Given the description of an element on the screen output the (x, y) to click on. 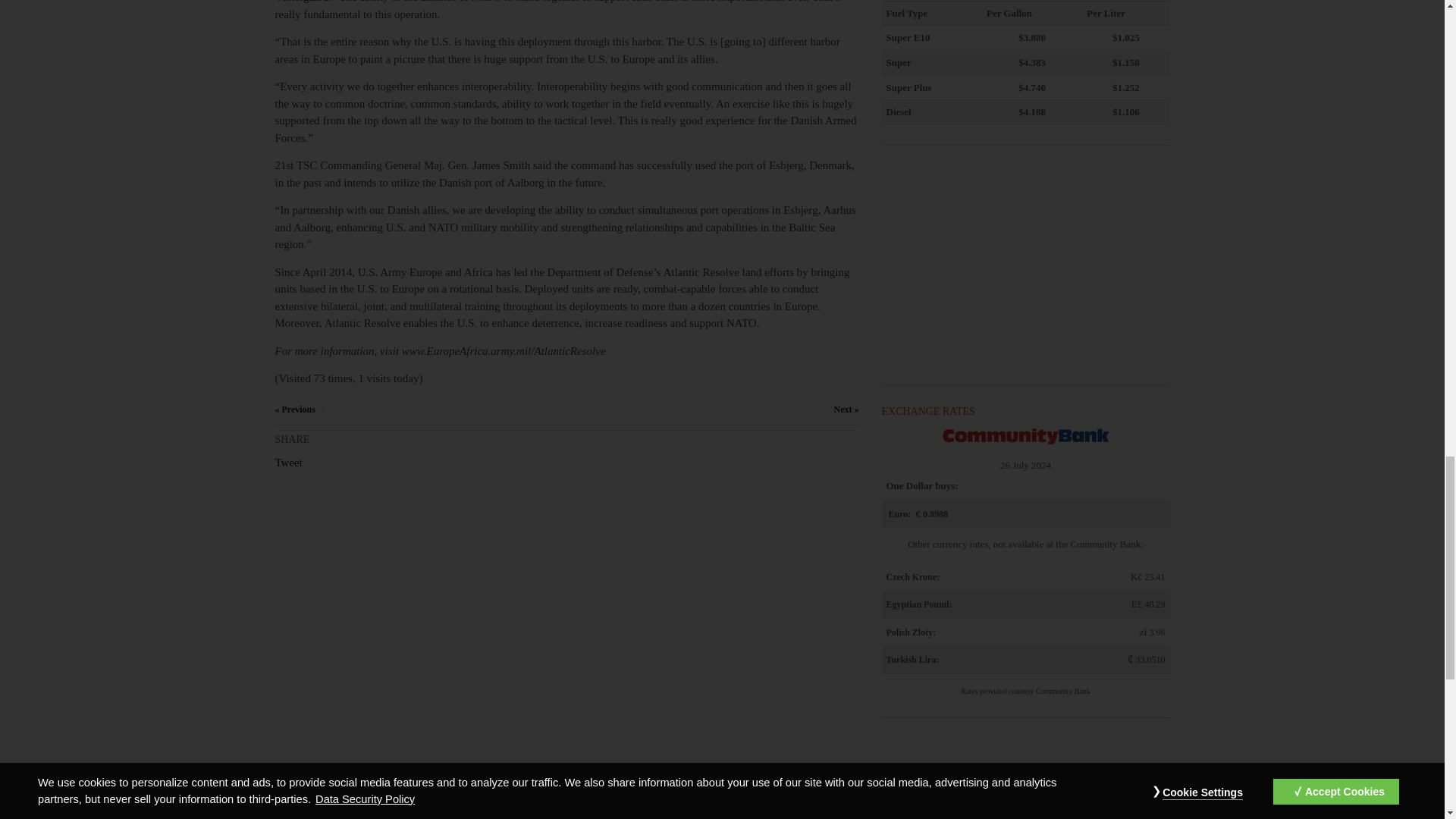
3rd party ad content (1025, 781)
3rd party ad content (1024, 266)
Unterwegs - January 27, 2023 (294, 409)
